Given the description of an element on the screen output the (x, y) to click on. 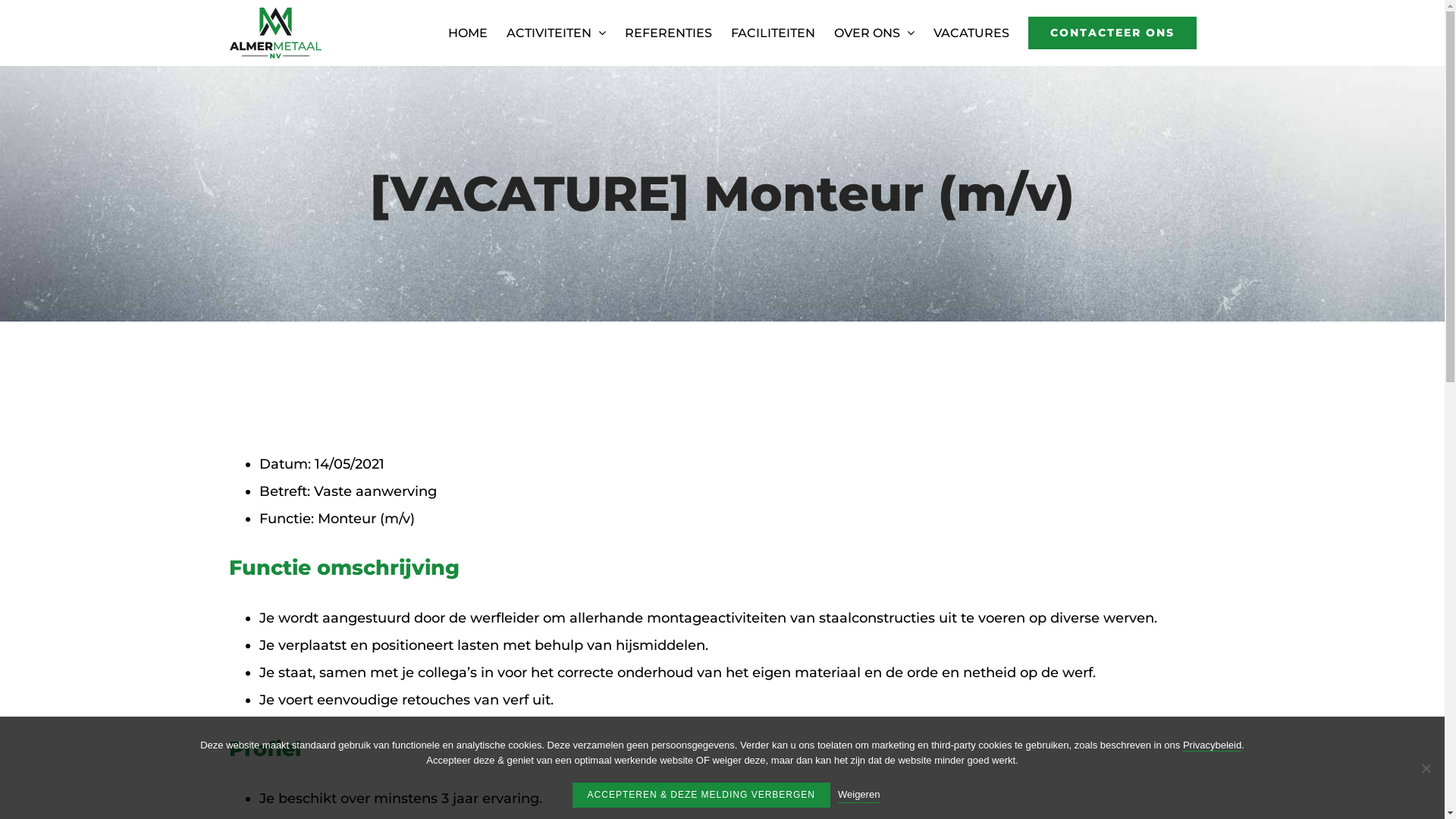
HOME Element type: text (466, 32)
Weigeren Element type: text (858, 795)
REFERENTIES Element type: text (668, 32)
OVER ONS Element type: text (874, 32)
ACTIVITEITEN Element type: text (555, 32)
Weigeren Element type: hover (1425, 767)
CONTACTEER ONS Element type: text (1112, 32)
ACCEPTEREN & DEZE MELDING VERBERGEN Element type: text (701, 794)
FACILITEITEN Element type: text (773, 32)
Privacybeleid Element type: text (1212, 745)
VACATURES Element type: text (970, 32)
